Given the description of an element on the screen output the (x, y) to click on. 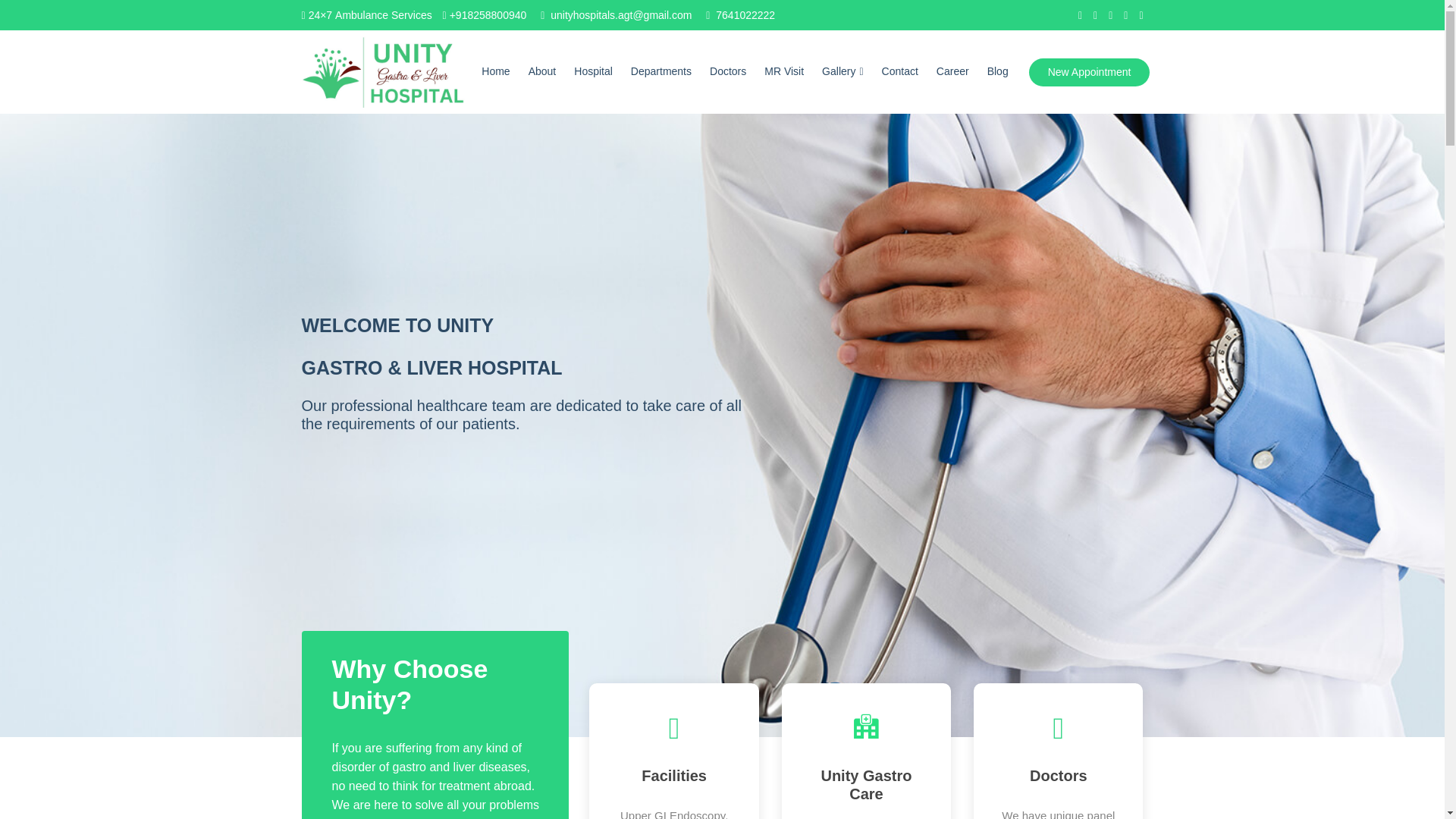
Home (495, 71)
Career (952, 71)
New Appointment (1089, 71)
About (542, 71)
Blog (997, 71)
Gallery (842, 71)
Departments (660, 71)
7641022222 (745, 15)
New Appointment (1089, 71)
Doctors (727, 71)
Hospital (593, 71)
MR Visit (783, 71)
Contact (900, 71)
